Given the description of an element on the screen output the (x, y) to click on. 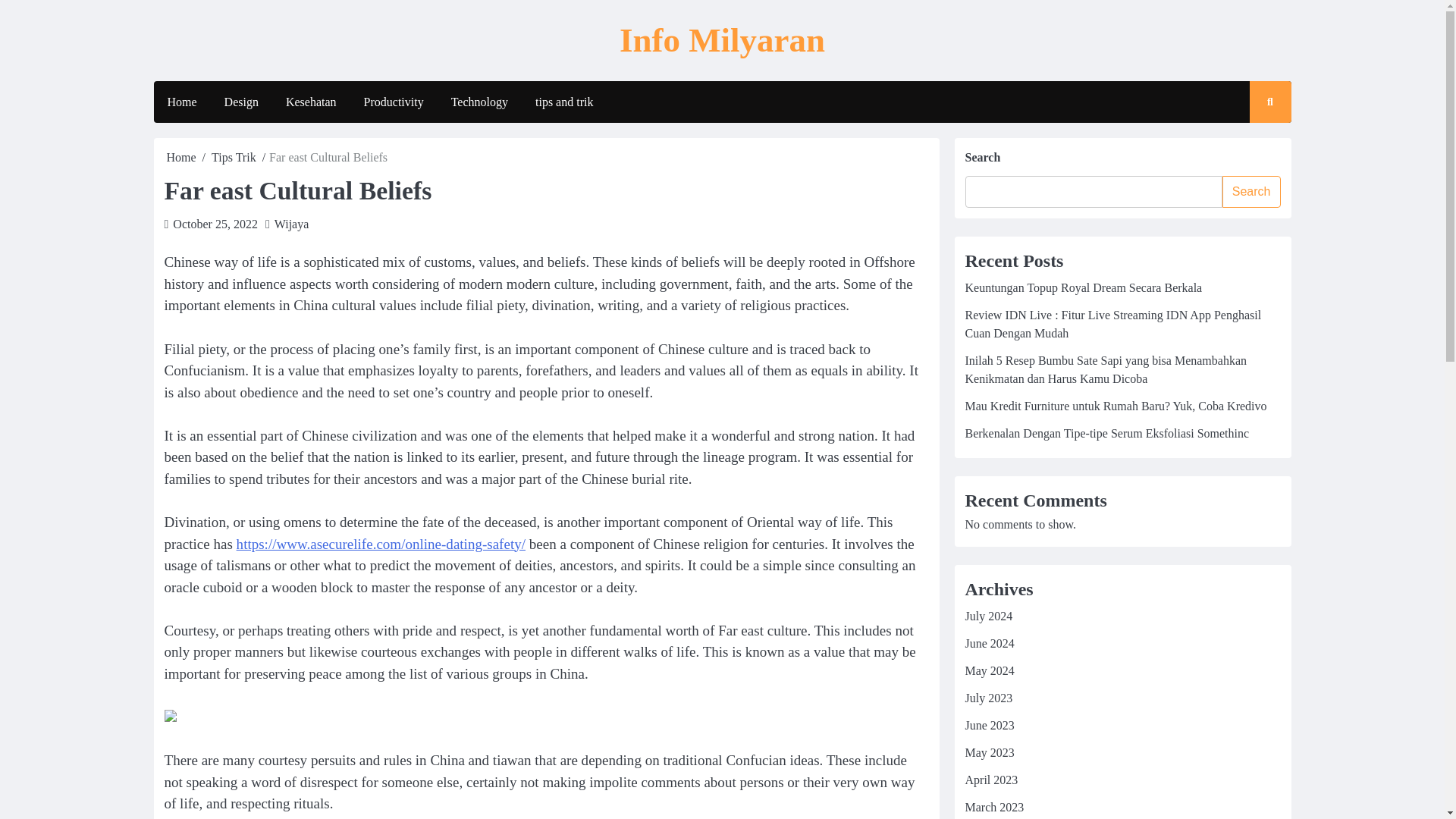
Info Milyaran (722, 39)
Berkenalan Dengan Tipe-tipe Serum Eksfoliasi Somethinc (1106, 432)
July 2023 (987, 697)
June 2024 (988, 643)
July 2024 (987, 615)
October 25, 2022 (215, 223)
Keuntungan Topup Royal Dream Secara Berkala (1082, 287)
March 2023 (993, 807)
Home (180, 102)
Design (241, 102)
Tips Trik (233, 156)
tips and trik (564, 102)
Kesehatan (311, 102)
